Given the description of an element on the screen output the (x, y) to click on. 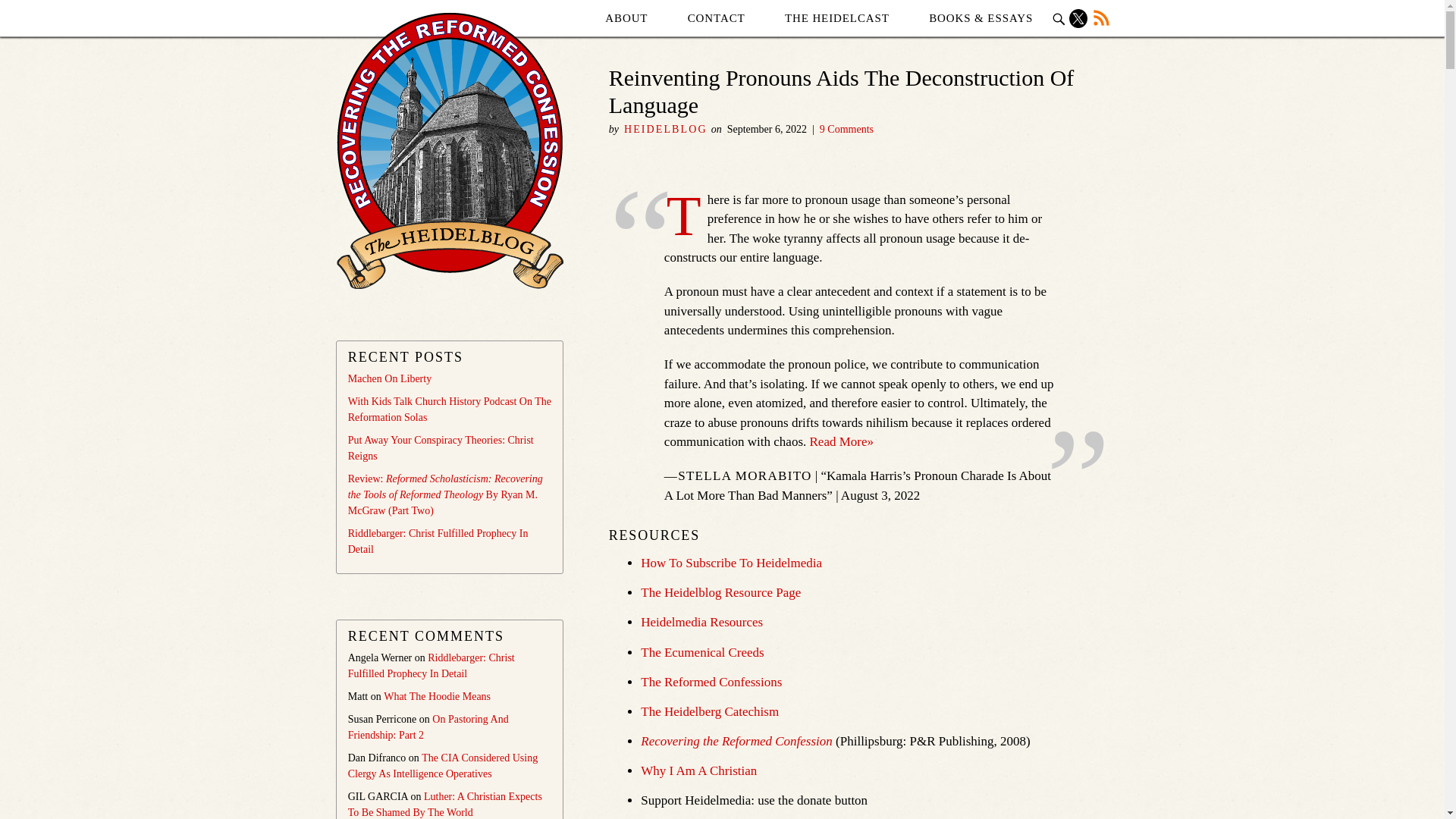
The Heidelblog Resource Page (720, 592)
THE HEIDELCAST (837, 18)
Heidelmedia Resources (701, 622)
9 Comments (846, 129)
How To Subscribe To Heidelmedia (731, 563)
The Reformed Confessions (710, 681)
ABOUT (625, 18)
Recovering the Reformed Confession (736, 740)
CONTACT (715, 18)
About (625, 18)
Why I Am A Christian (698, 770)
The Heidelberg Catechism (709, 711)
Contact (715, 18)
HEIDELBLOG (665, 129)
